Given the description of an element on the screen output the (x, y) to click on. 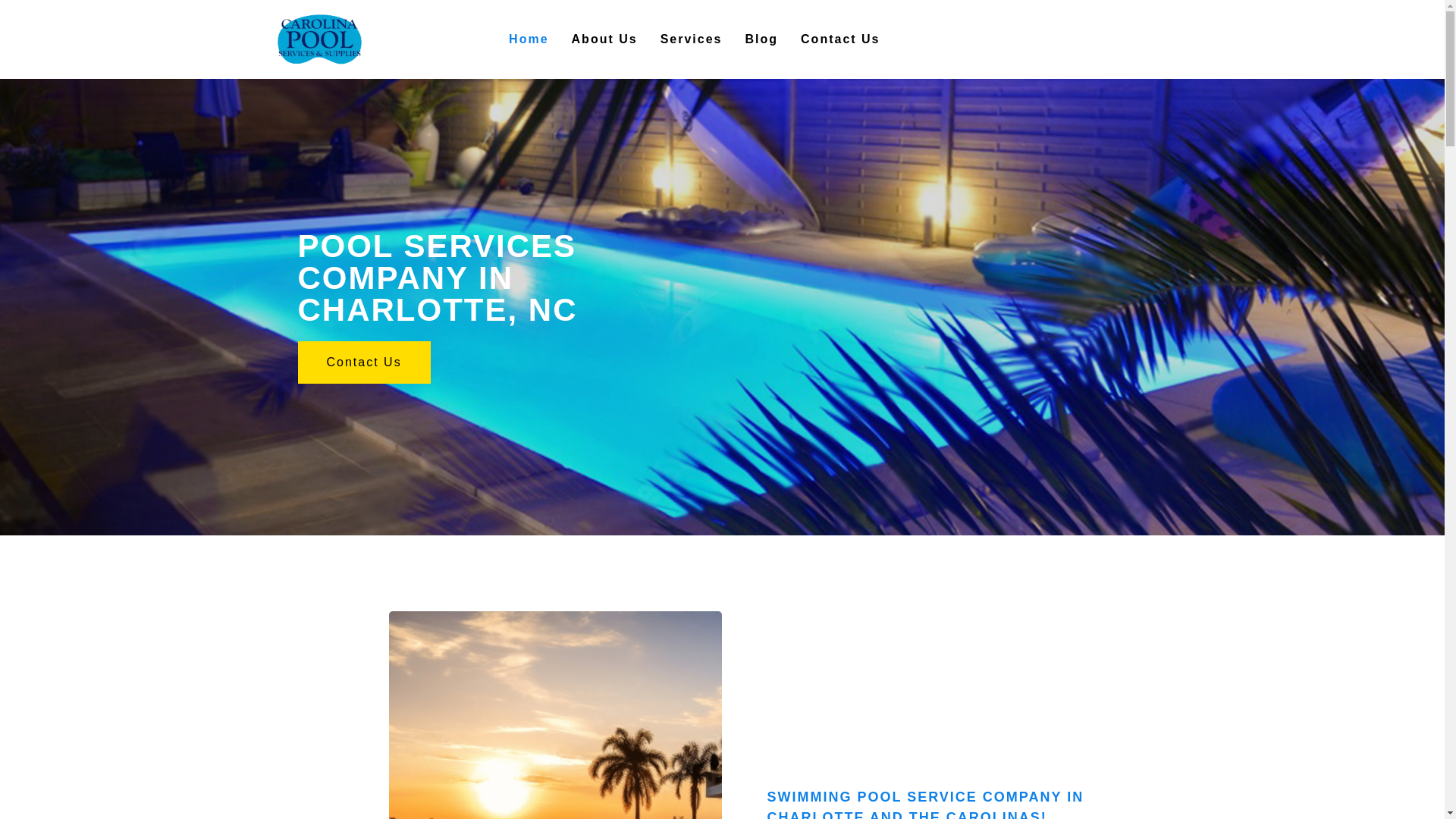
Contact Us (840, 39)
Home (528, 39)
provide2 (554, 714)
About Us (604, 39)
Services (691, 39)
Blog (761, 39)
Contact Us (363, 362)
